Given the description of an element on the screen output the (x, y) to click on. 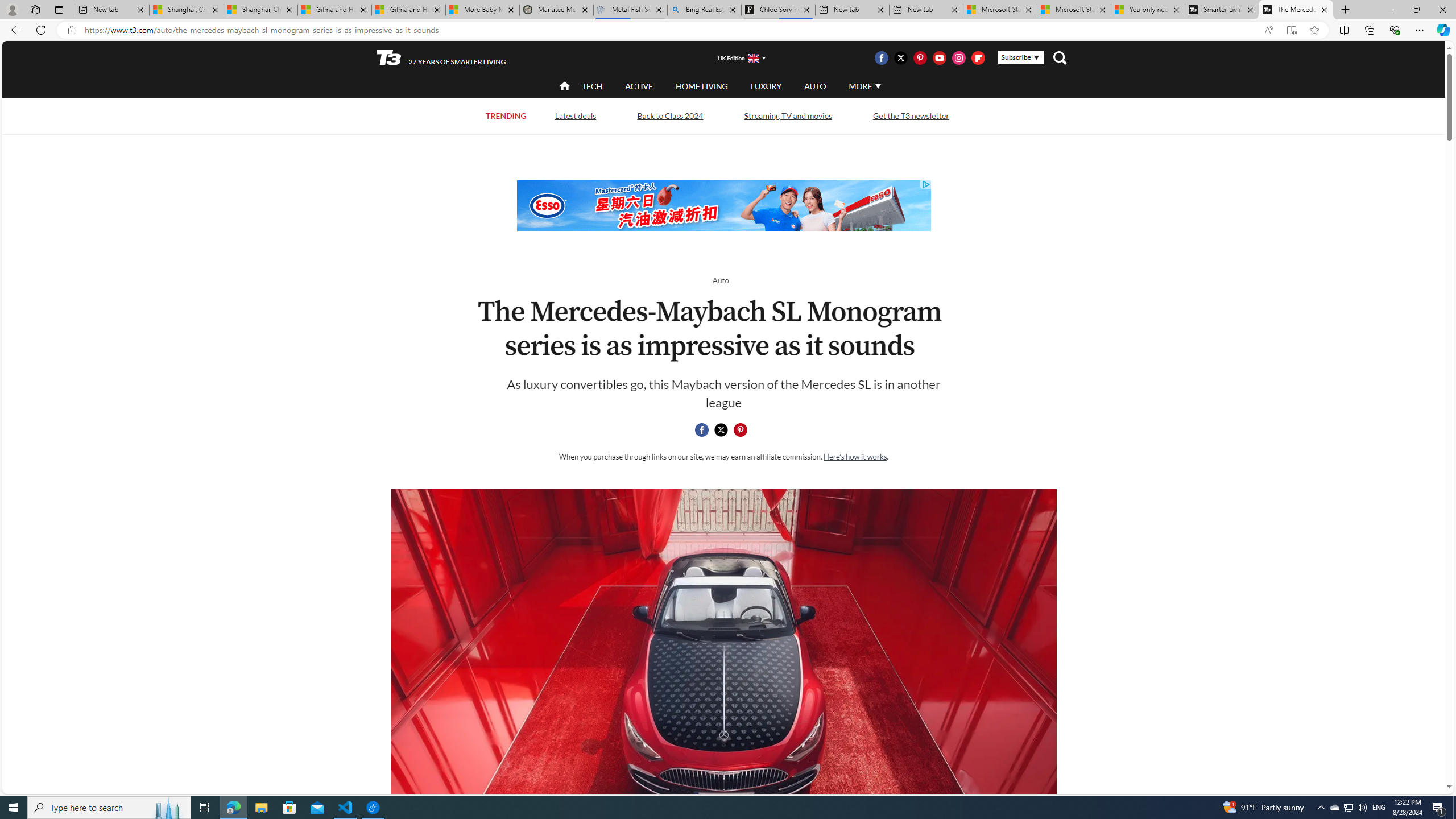
Auto (720, 280)
Streaming TV and movies (788, 115)
HOME LIVING (701, 86)
Get the T3 newsletter (911, 115)
Class: icon-svg (739, 430)
